Given the description of an element on the screen output the (x, y) to click on. 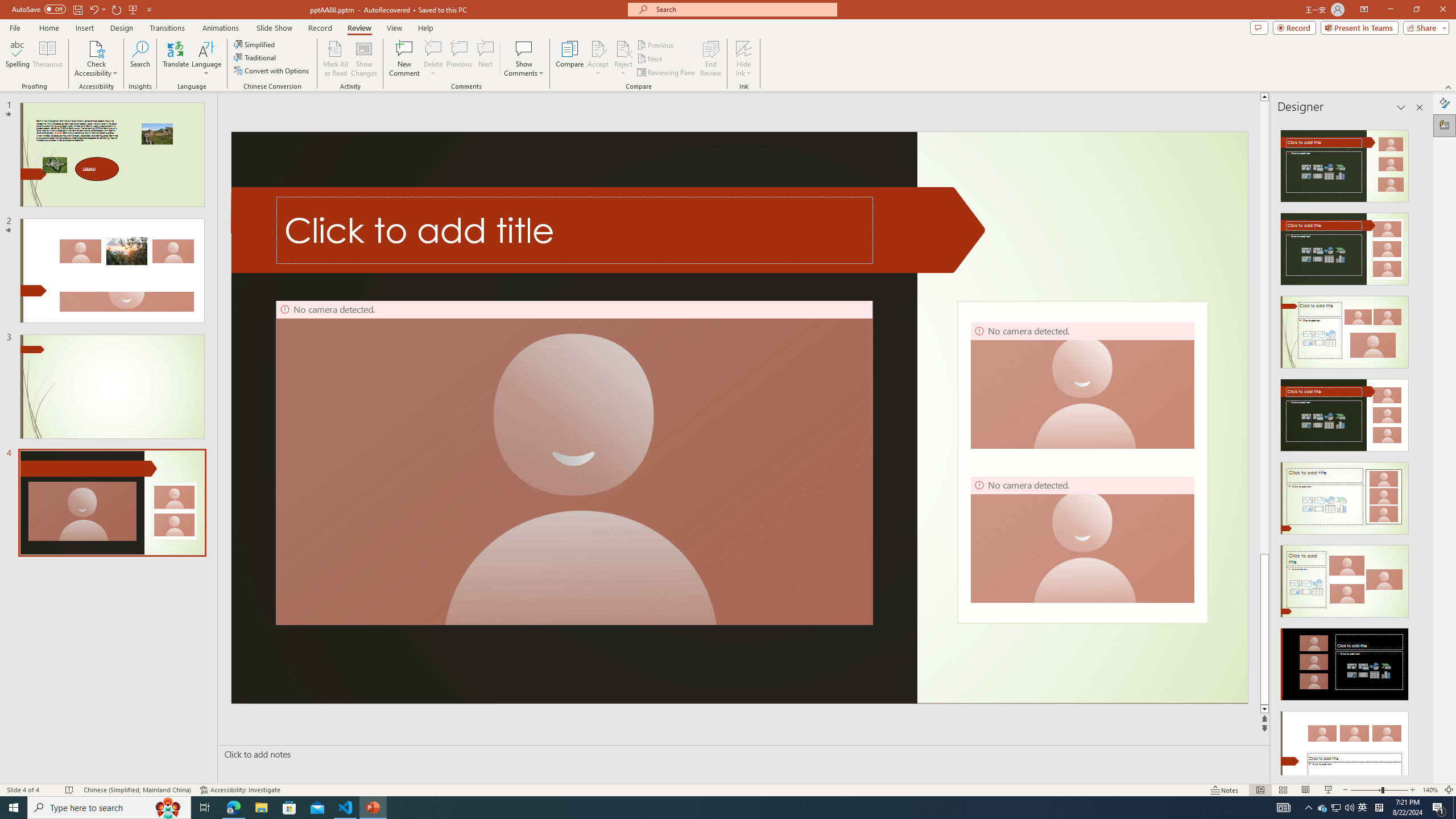
Hide Ink (743, 48)
